Given the description of an element on the screen output the (x, y) to click on. 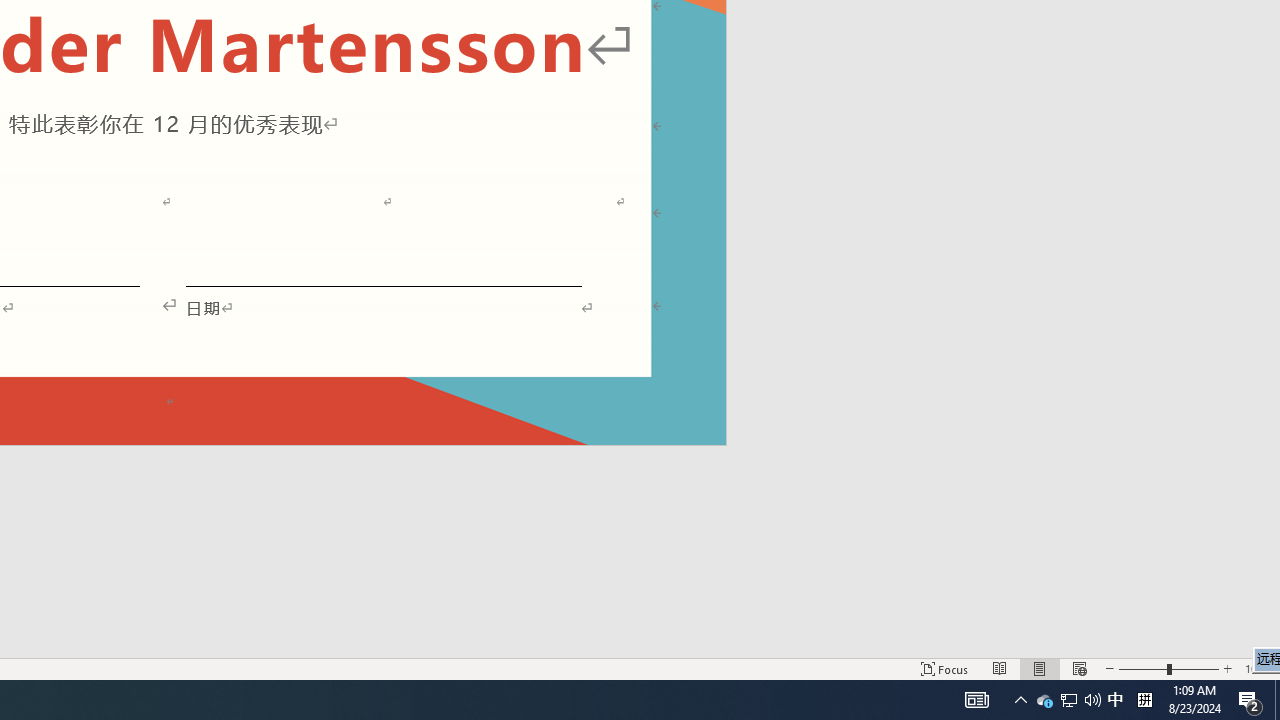
Zoom 100% (1258, 668)
Zoom (1168, 668)
